Given the description of an element on the screen output the (x, y) to click on. 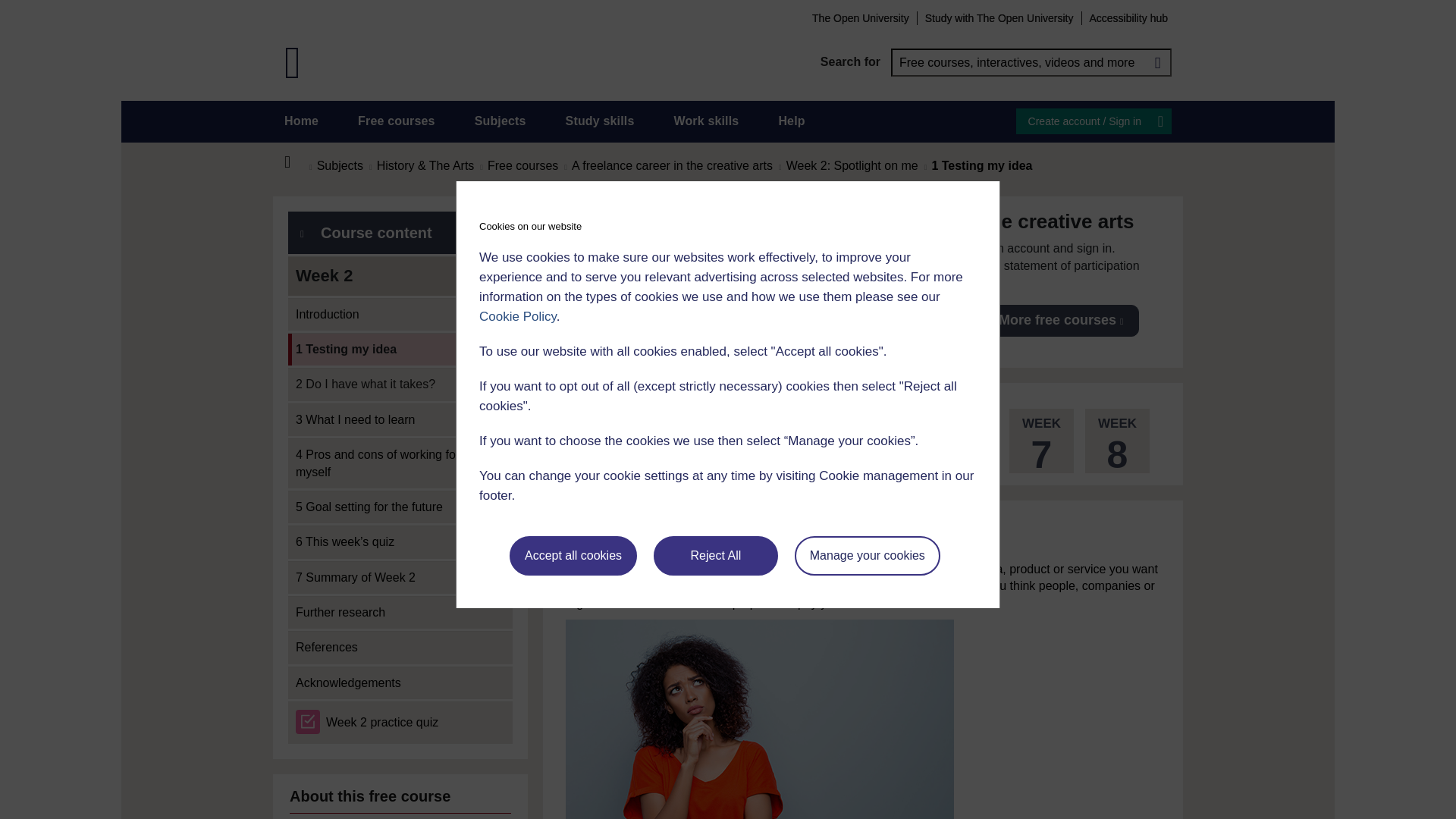
Reject All (715, 555)
The Open University (860, 17)
Study with The Open University (999, 17)
Search (1157, 62)
Free courses (396, 120)
Subjects (499, 120)
Accept all cookies (573, 555)
Help (791, 120)
Accessibility hub (1129, 17)
Home (300, 120)
